Given the description of an element on the screen output the (x, y) to click on. 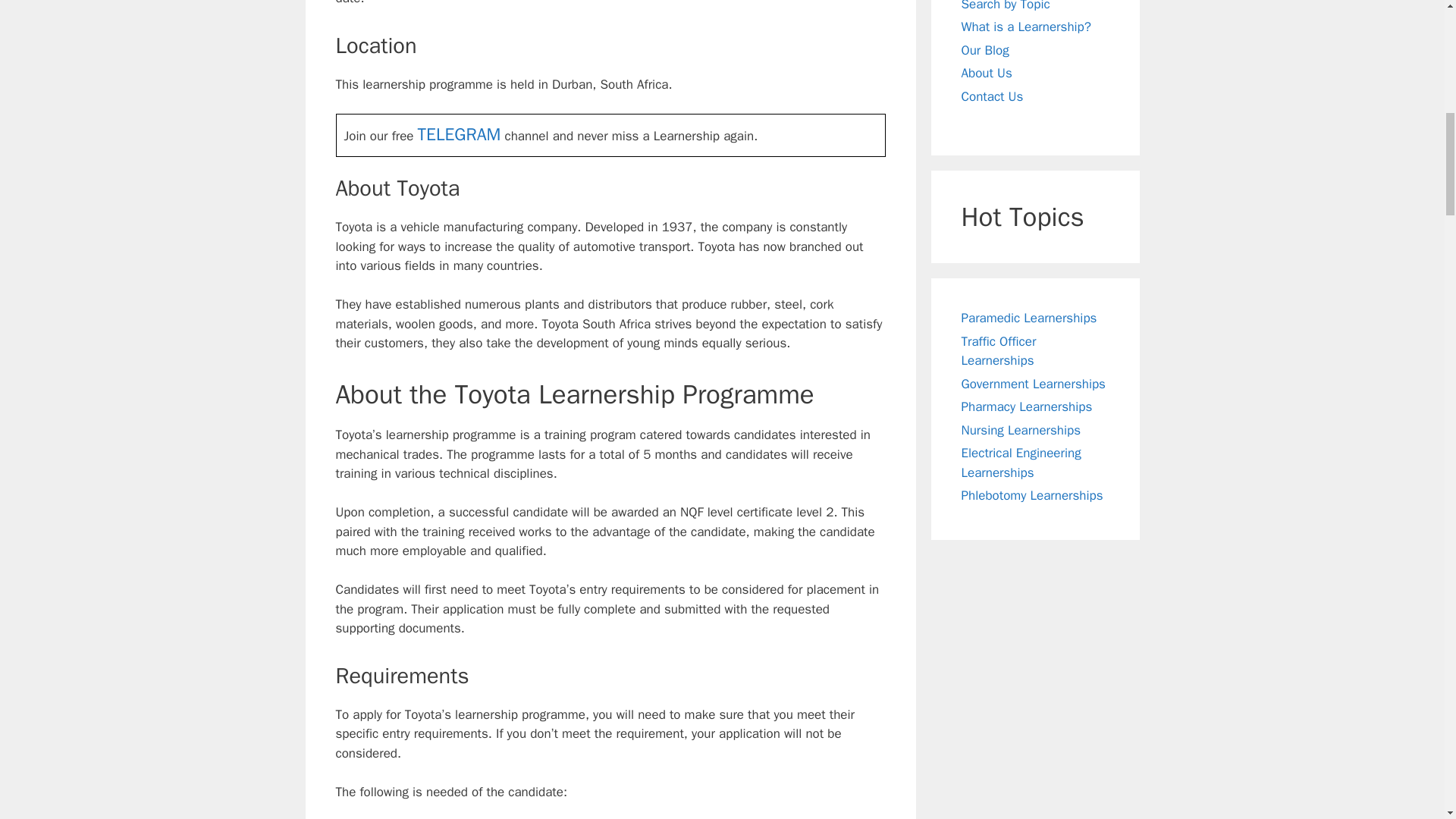
TELEGRAM (458, 134)
